Given the description of an element on the screen output the (x, y) to click on. 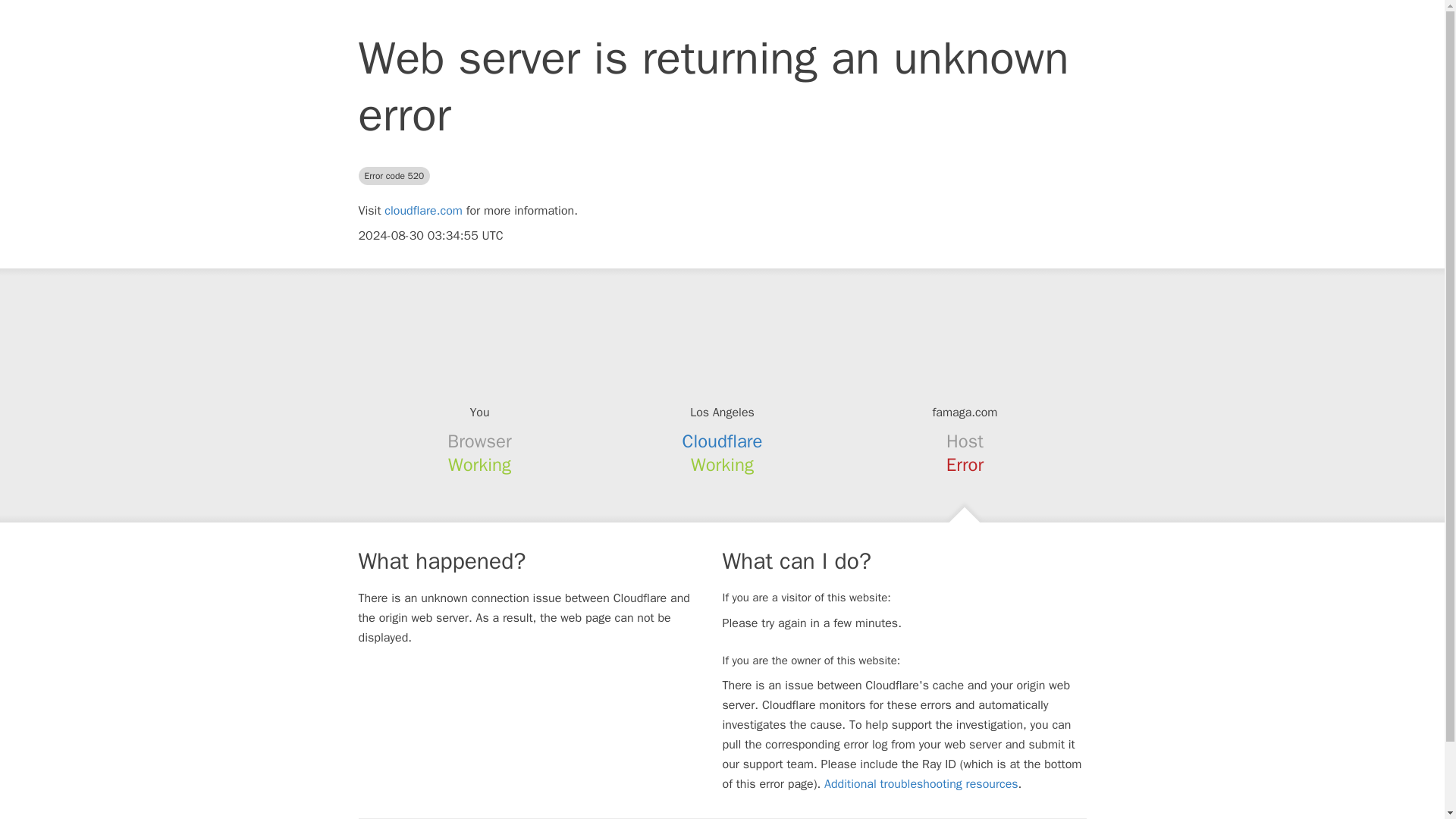
Cloudflare (722, 440)
Additional troubleshooting resources (920, 783)
cloudflare.com (423, 210)
